Given the description of an element on the screen output the (x, y) to click on. 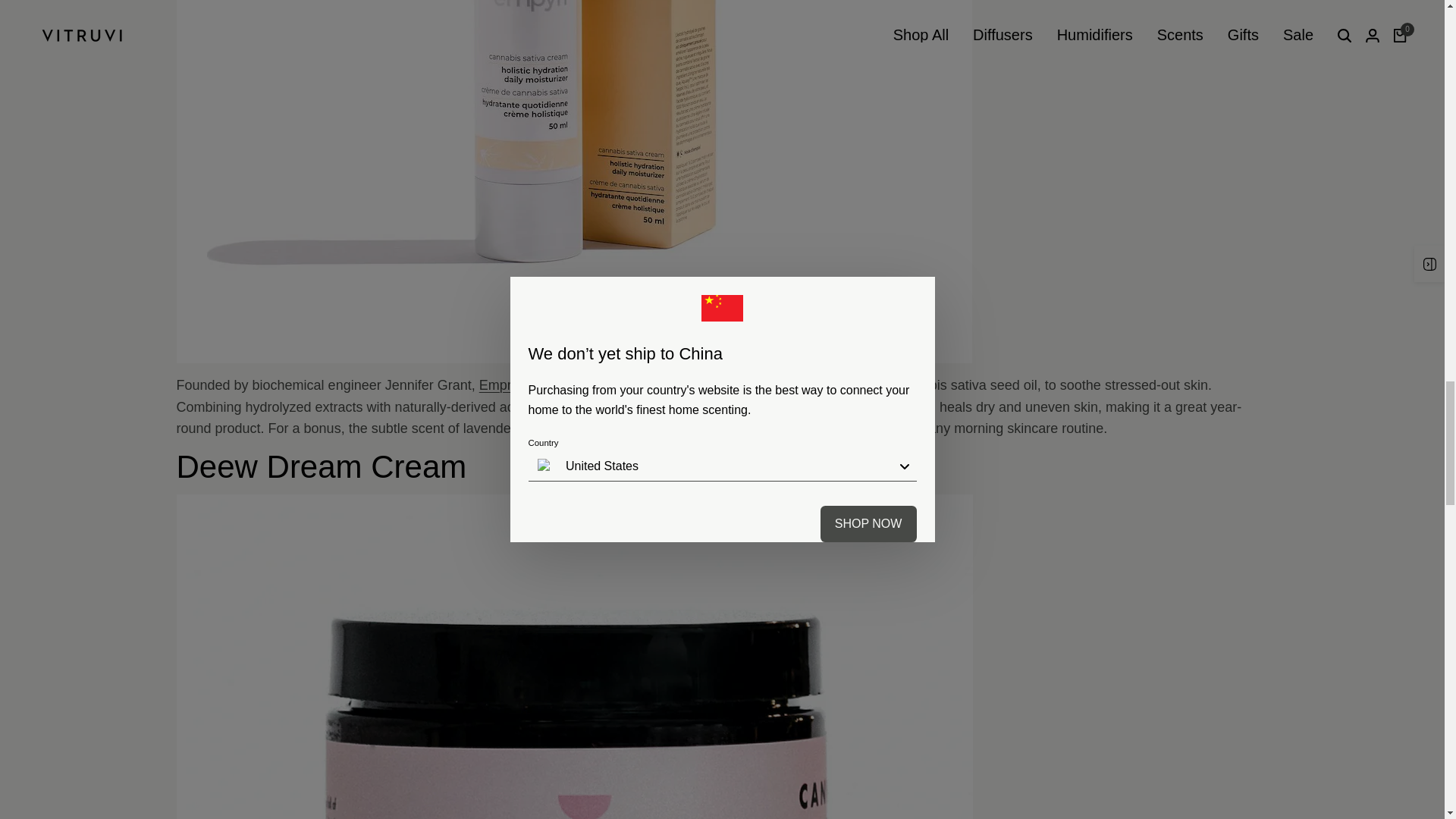
Empyri Holistic Hydration Daily Moisturizer (747, 406)
Empryi (500, 385)
